Given the description of an element on the screen output the (x, y) to click on. 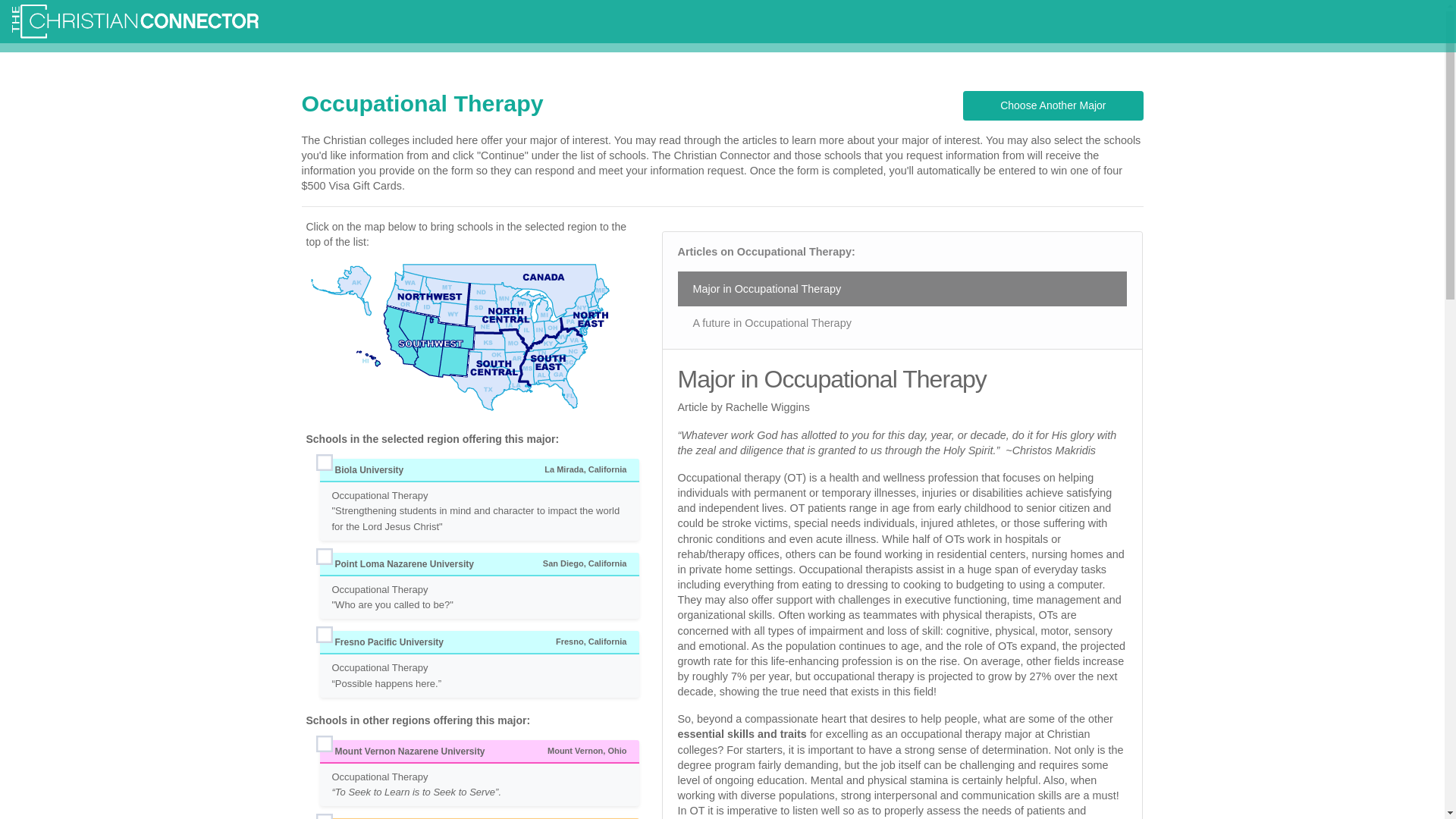
Major in Occupational Therapy (902, 288)
Choose Another Major (1052, 105)
A future in Occupational Therapy (902, 322)
